Given the description of an element on the screen output the (x, y) to click on. 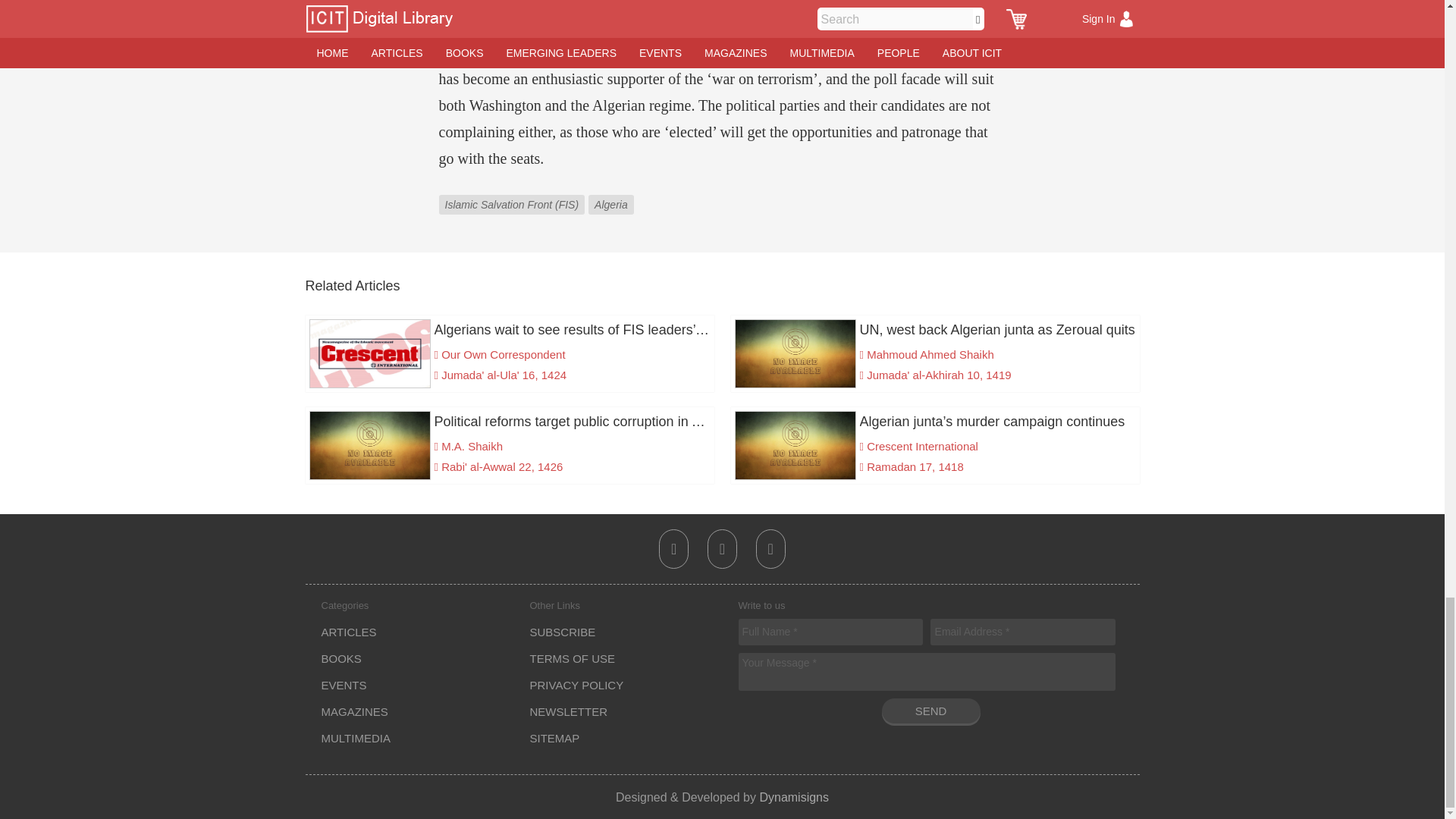
Mahmoud Ahmed Shaikh (930, 354)
Algeria (612, 193)
Political reforms target public corruption in Algeria (509, 421)
Web designing firm (793, 796)
UN, west back Algerian junta as Zeroual quits (934, 329)
Crescent International (922, 445)
M.A. Shaikh (471, 445)
UN, west back Algerian junta as Zeroual quits (934, 329)
Our Own Correspondent (502, 354)
Political reforms target public corruption in Algeria (509, 421)
